Given the description of an element on the screen output the (x, y) to click on. 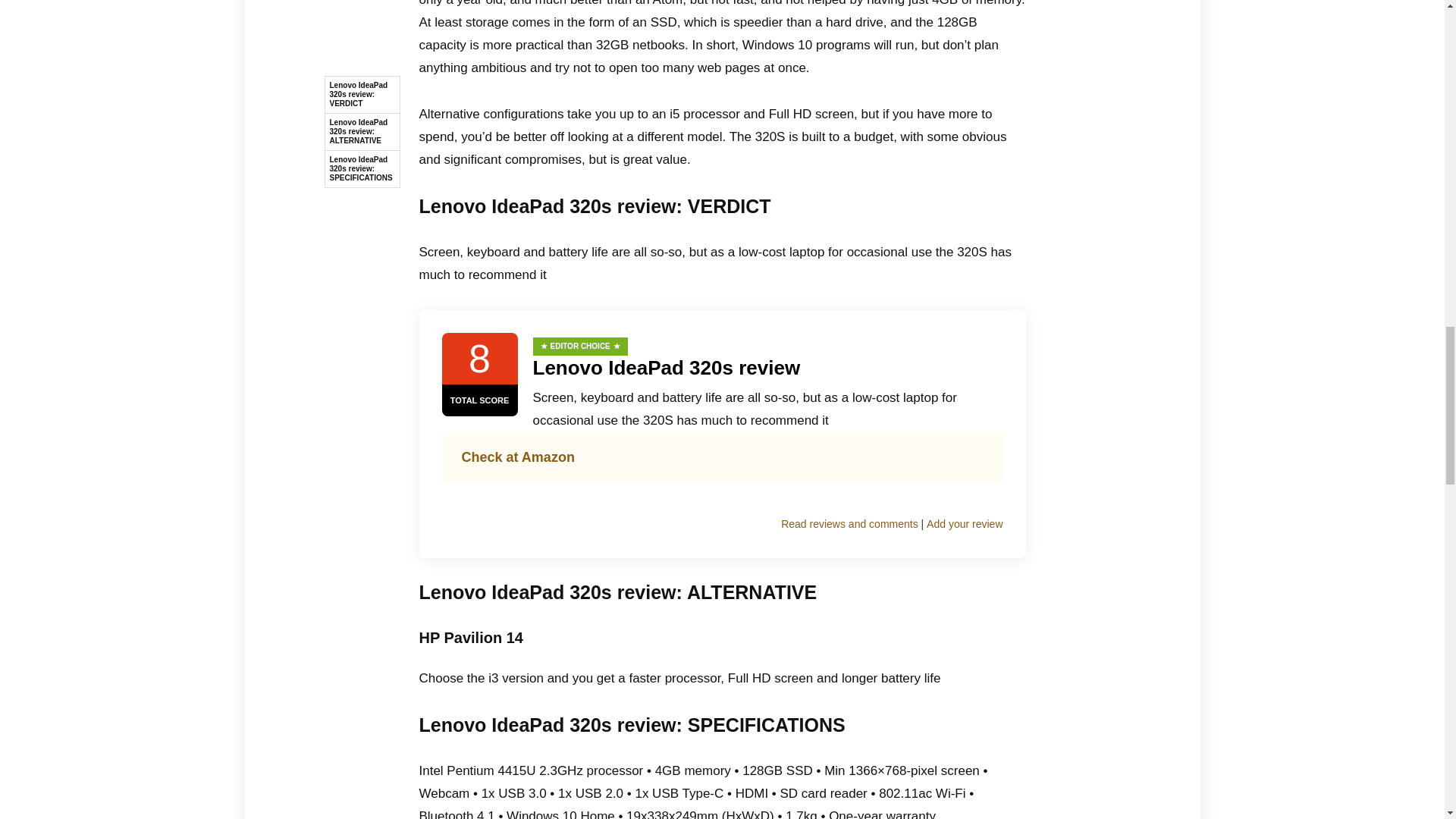
Check at Amazon (517, 457)
Read reviews and comments (849, 523)
Read reviews and comments (849, 523)
Add your review (964, 523)
Add your review (964, 523)
